Given the description of an element on the screen output the (x, y) to click on. 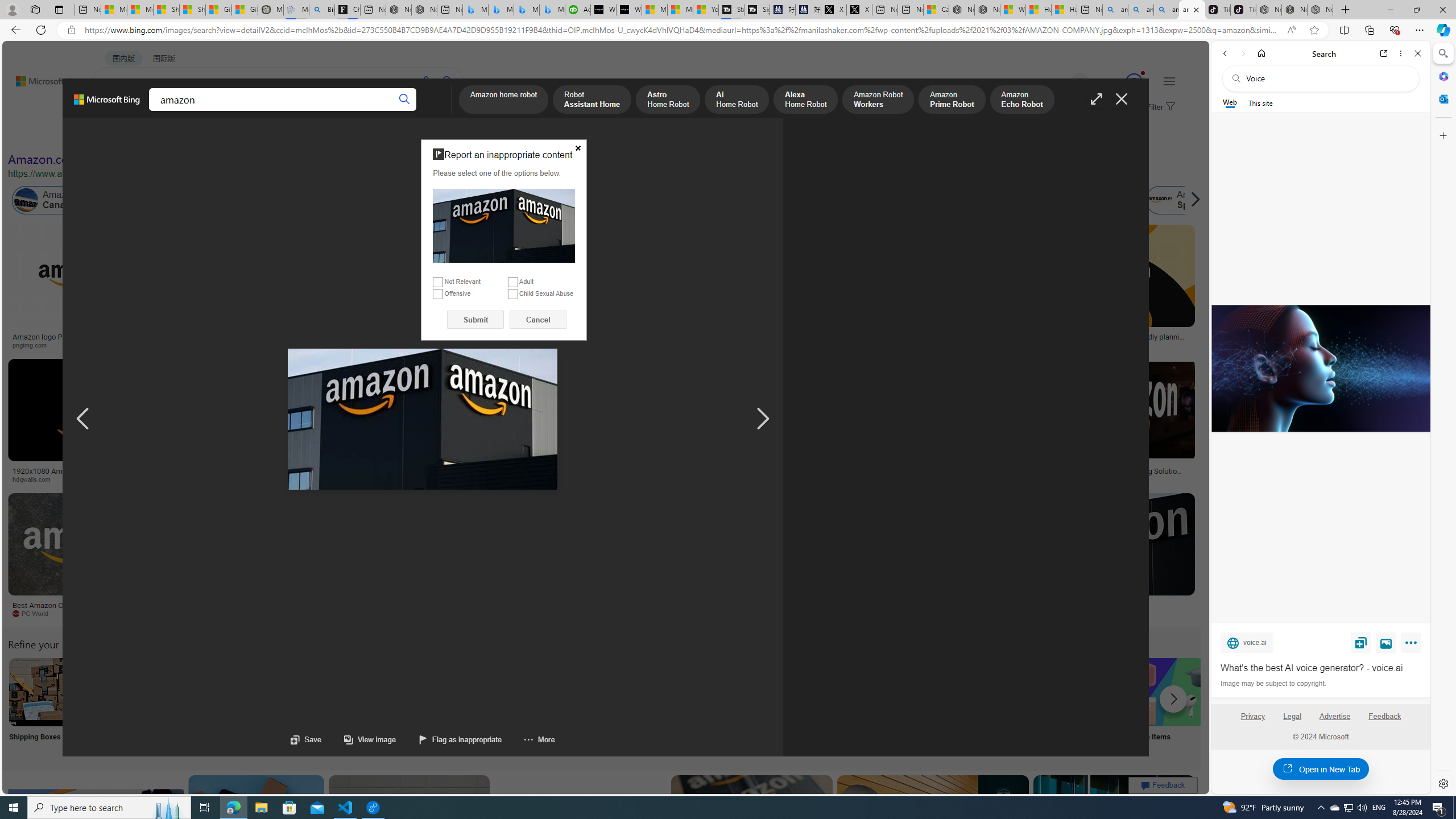
View image (1385, 642)
Dropdown Menu (443, 111)
Amazon Shoes (1079, 200)
Amazon India (508, 199)
AutomationID: navl (82, 418)
protothema.gr (1105, 613)
Amazon Spain (1159, 200)
Amazon Animals (426, 199)
Long Island Press (593, 479)
Amazon Sign in My Account (718, 691)
People (295, 135)
